Given the description of an element on the screen output the (x, y) to click on. 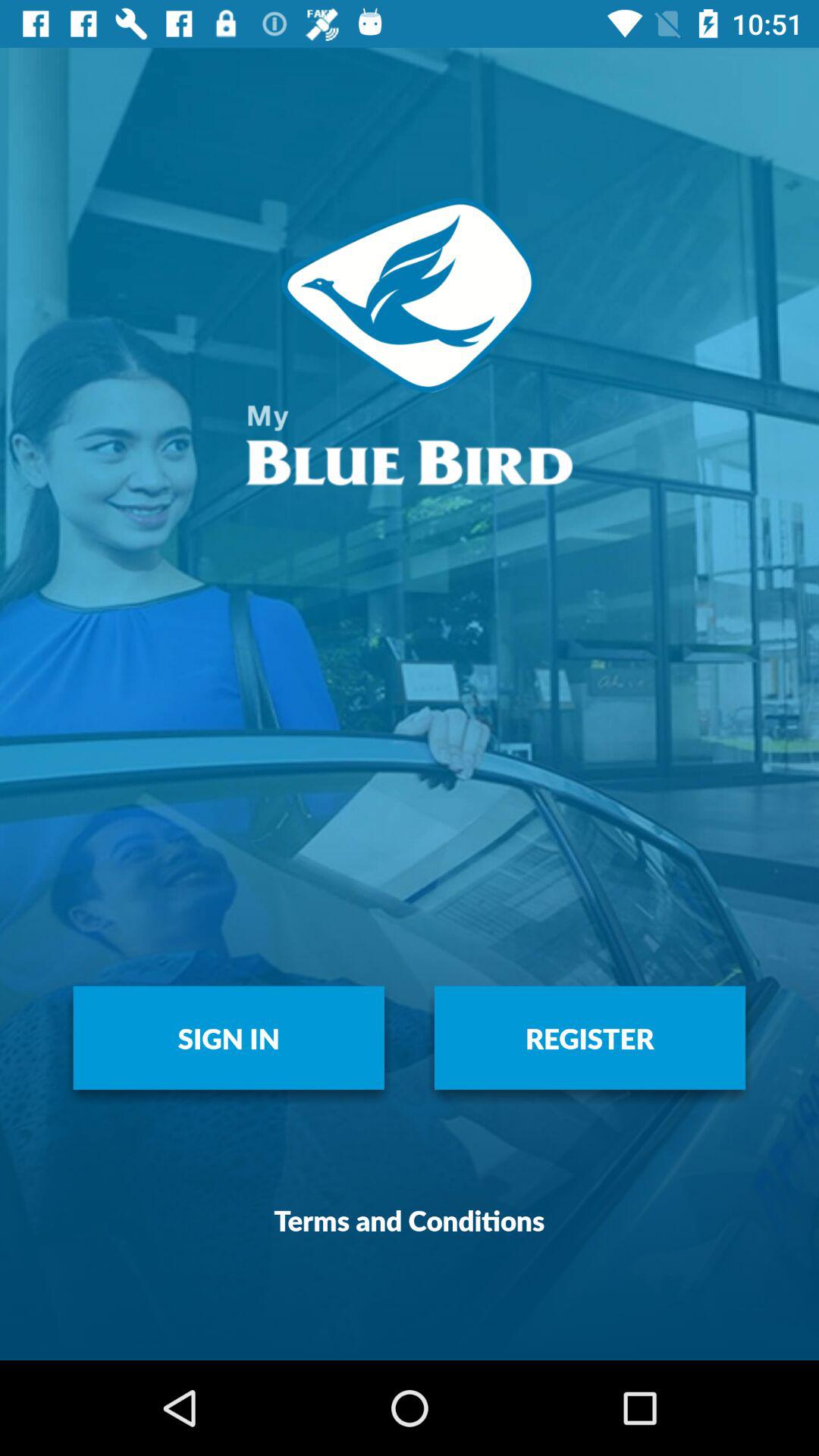
choose the sign in (228, 1037)
